Given the description of an element on the screen output the (x, y) to click on. 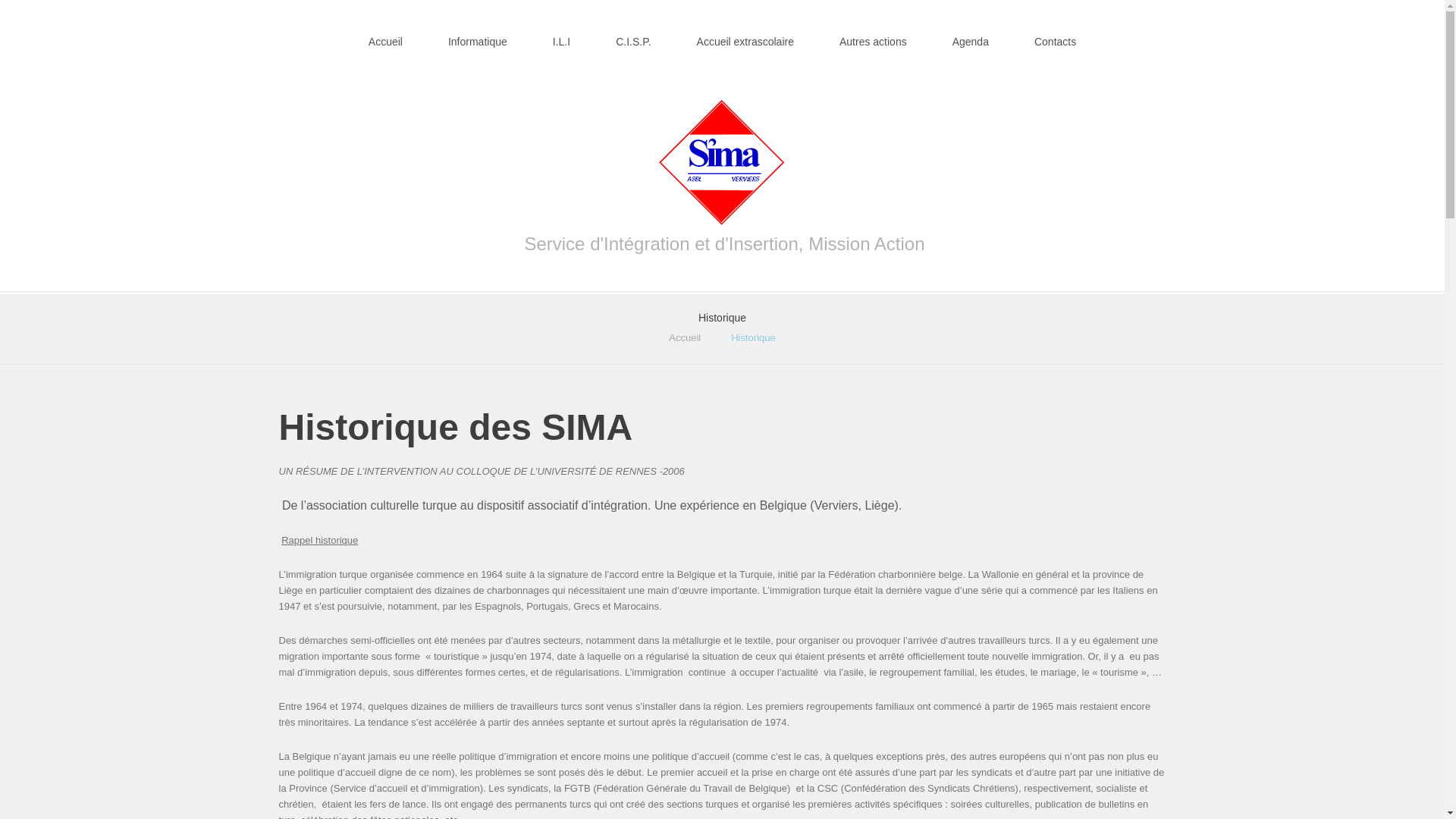
Autres actions Element type: text (872, 32)
Accueil Element type: text (684, 337)
Agenda Element type: text (970, 32)
Accueil Element type: text (385, 32)
Contacts Element type: text (1055, 32)
Accueil extrascolaire Element type: text (744, 32)
Informatique Element type: text (477, 32)
C.I.S.P. Element type: text (632, 32)
I.L.I Element type: text (561, 32)
